Given the description of an element on the screen output the (x, y) to click on. 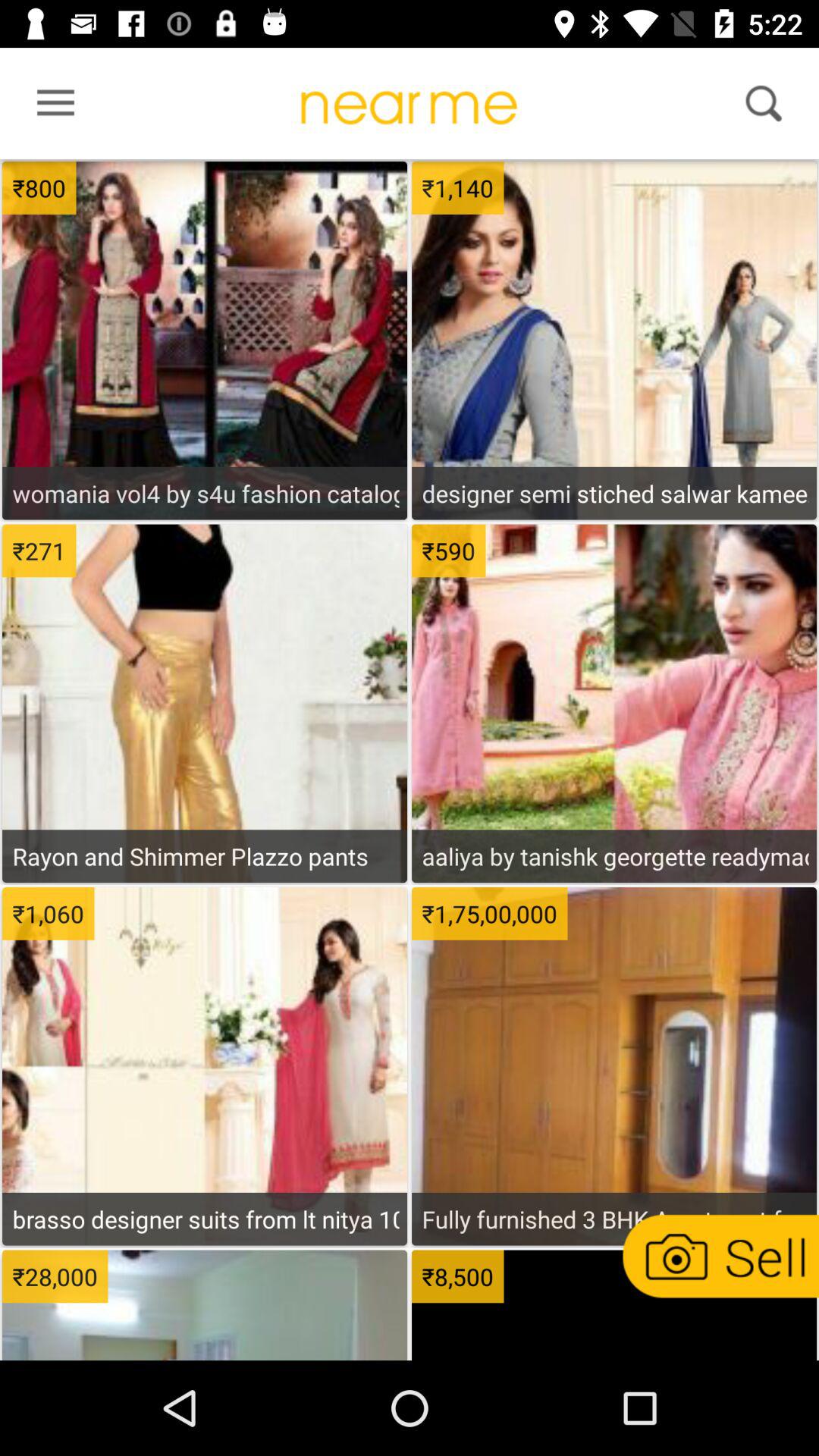
turn on rayon and shimmer icon (204, 855)
